Given the description of an element on the screen output the (x, y) to click on. 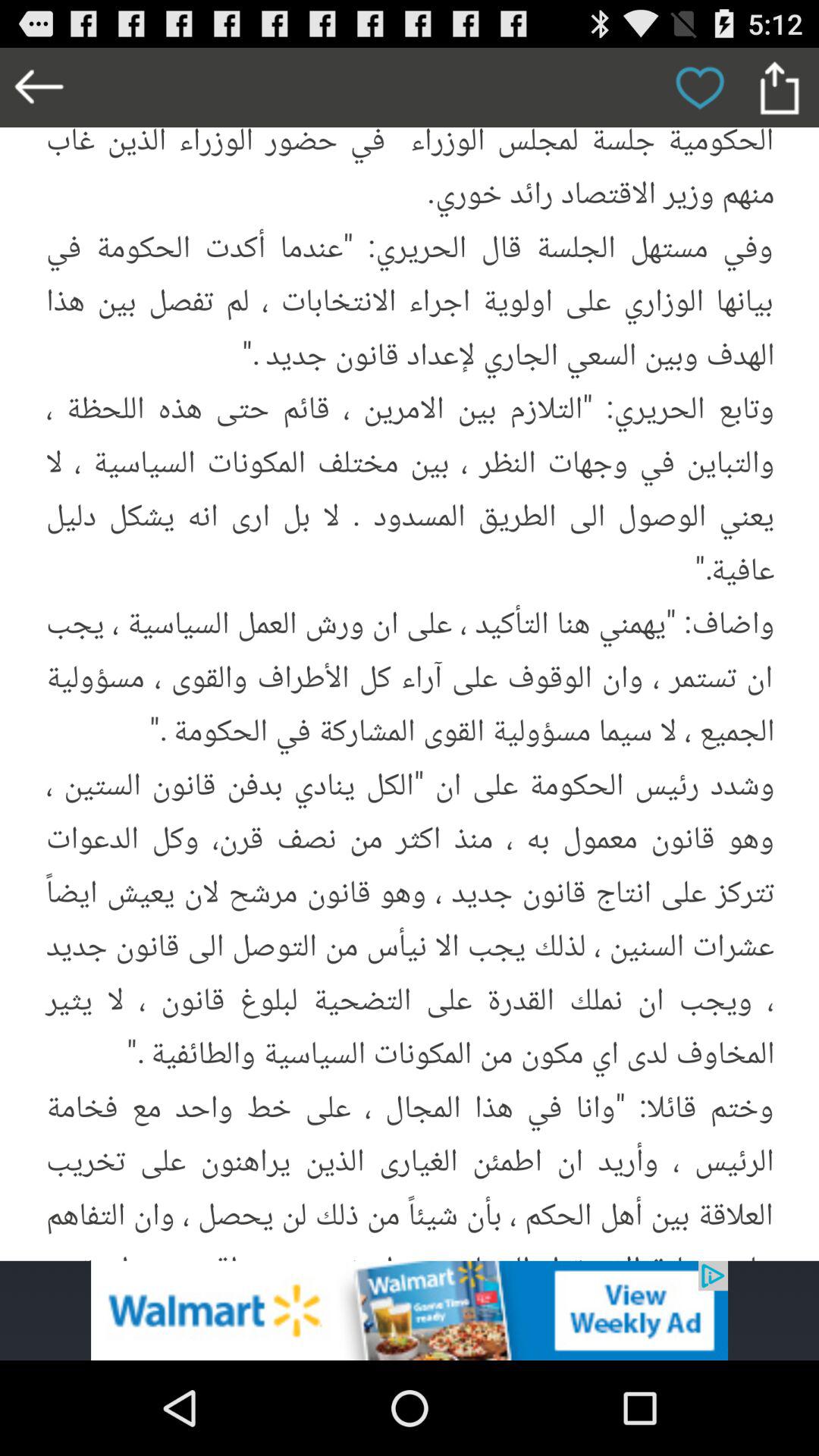
go to previous page (39, 87)
